Given the description of an element on the screen output the (x, y) to click on. 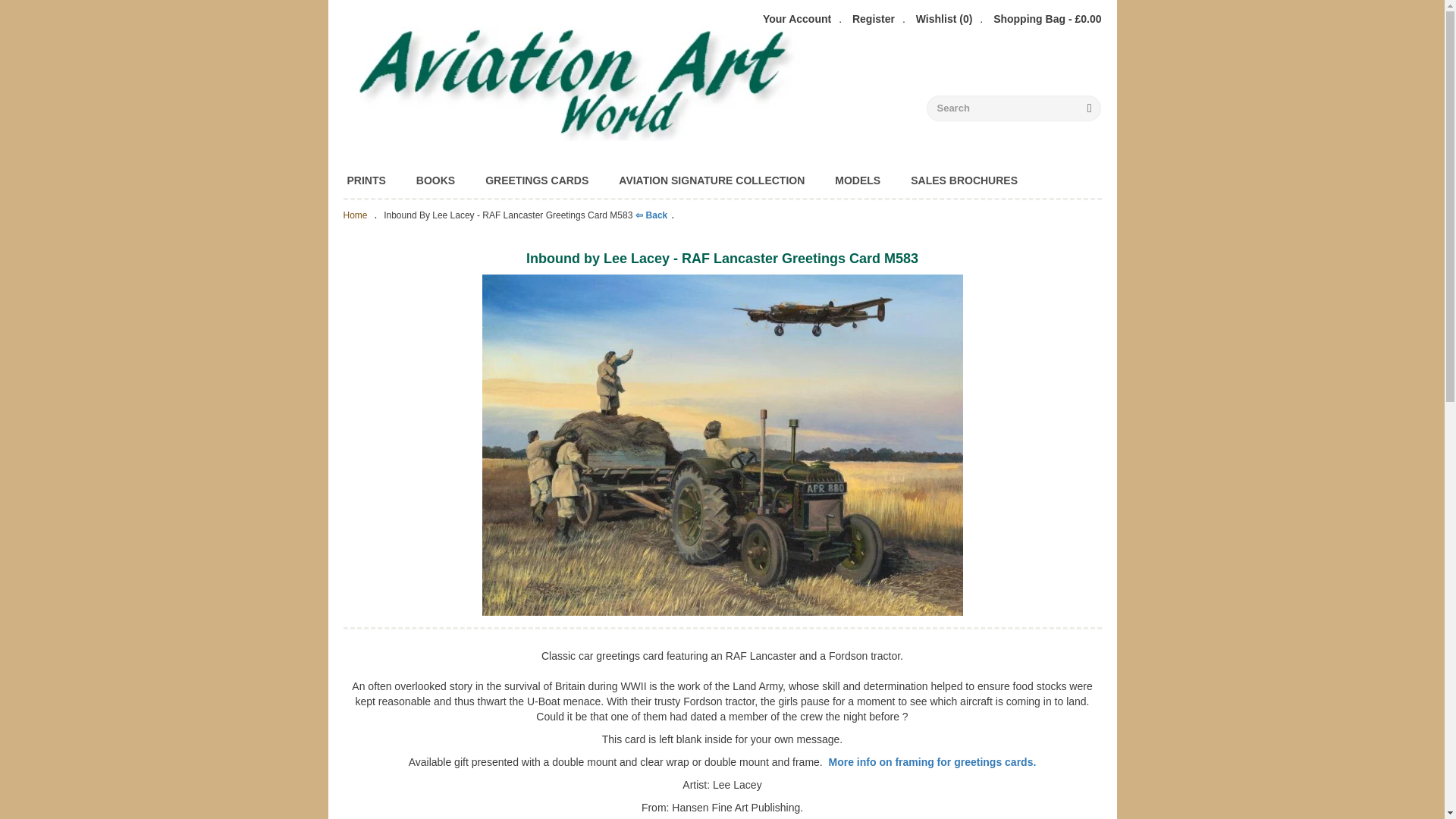
PRINTS (365, 180)
AVIATION SIGNATURE COLLECTION (711, 180)
Your Account (796, 18)
BOOKS (435, 180)
GREETINGS CARDS (536, 180)
Register (873, 18)
